Given the description of an element on the screen output the (x, y) to click on. 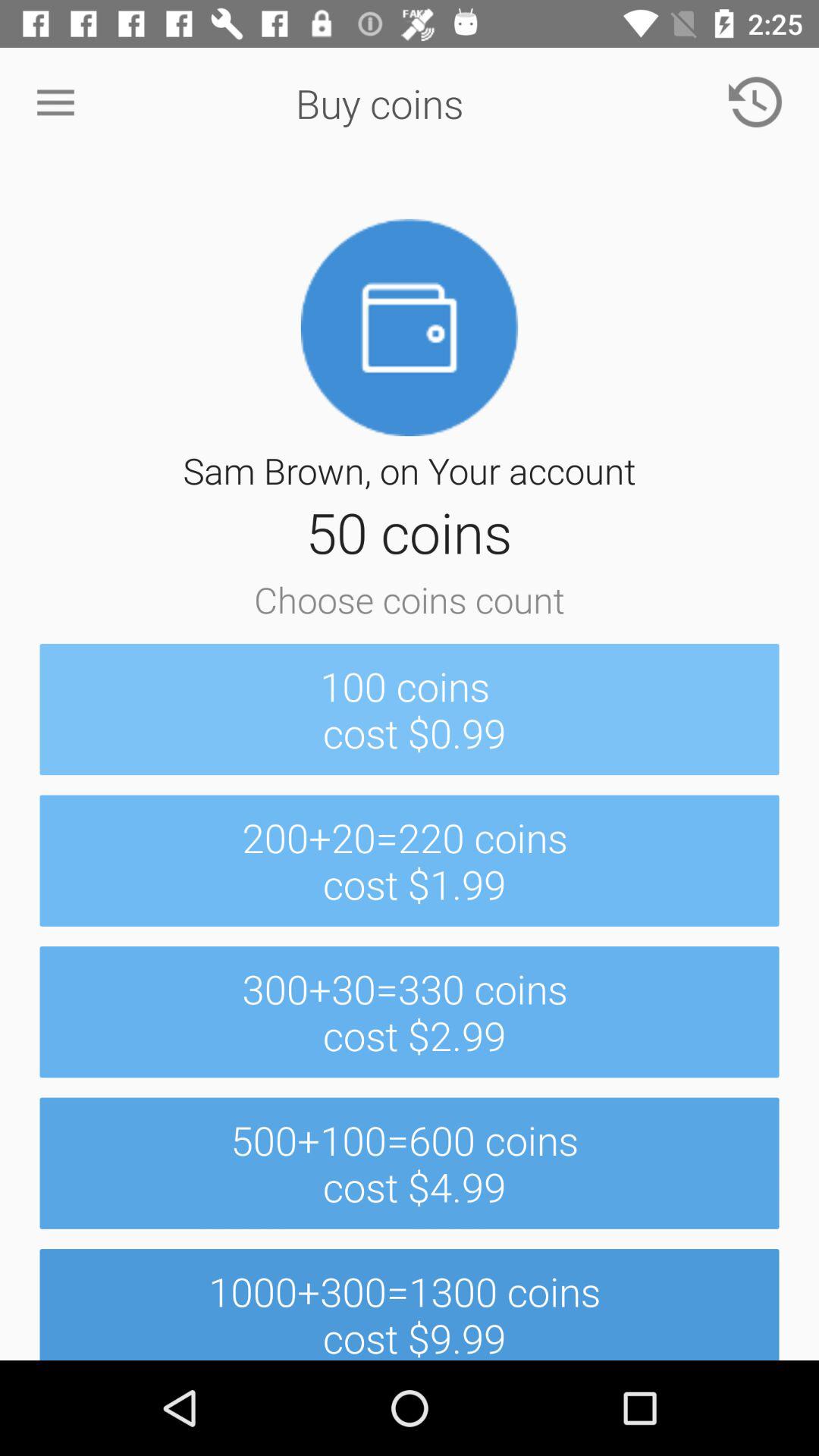
swipe to 500 100 600 icon (409, 1163)
